Given the description of an element on the screen output the (x, y) to click on. 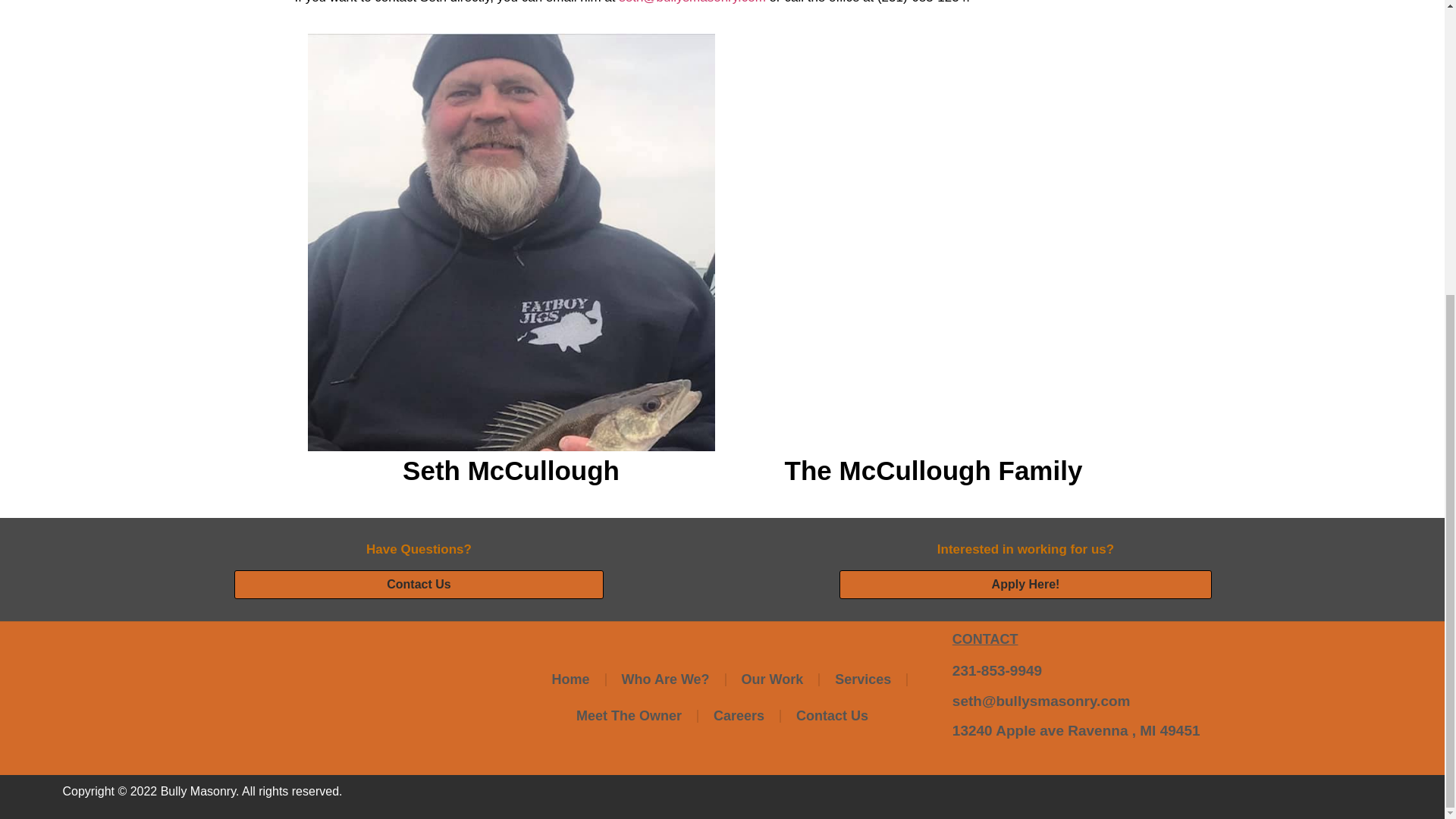
Apply Here! (1026, 584)
Contact Us (831, 716)
Home (571, 679)
Meet The Owner (628, 716)
Services (862, 679)
Careers (738, 716)
Our Work (772, 679)
Who Are We? (666, 679)
Contact Us (418, 584)
